Given the description of an element on the screen output the (x, y) to click on. 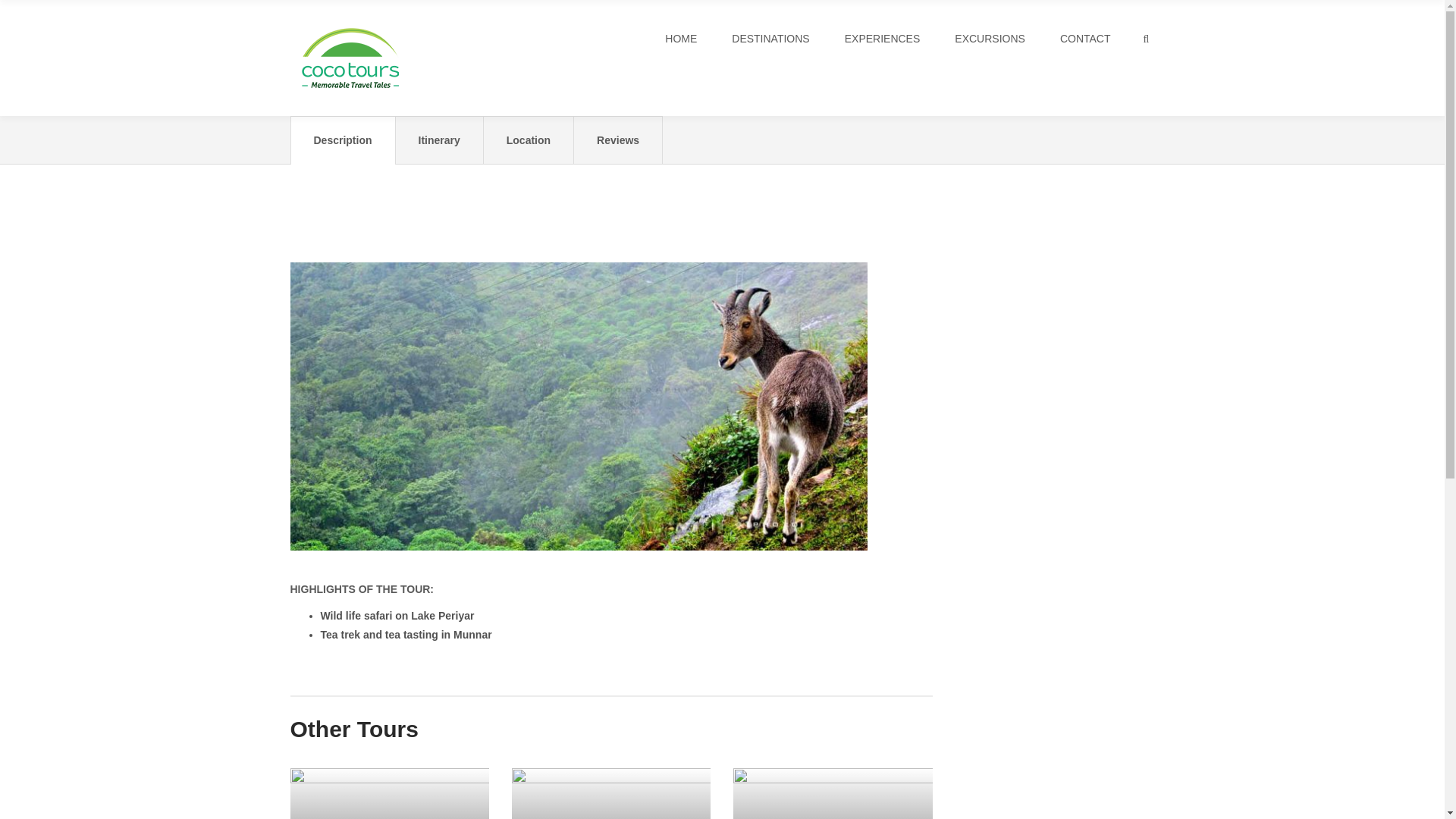
Location (528, 139)
Search (1140, 103)
HOME (681, 38)
DESTINATIONS (770, 38)
cocotours (349, 58)
EXPERIENCES (882, 38)
Reviews (617, 139)
EXCURSIONS (990, 38)
CONTACT (1084, 38)
Itinerary (439, 139)
